Given the description of an element on the screen output the (x, y) to click on. 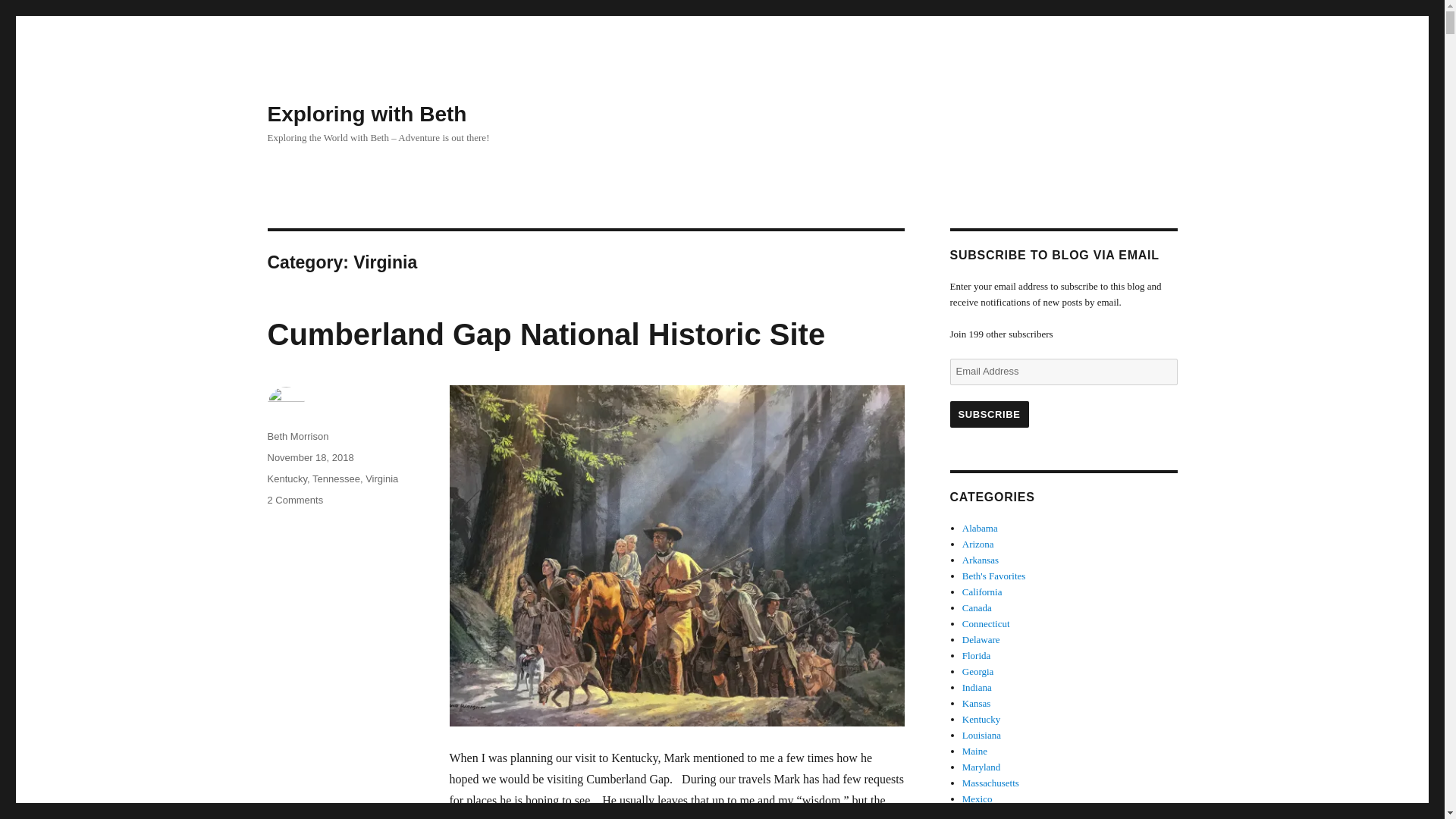
November 18, 2018 (309, 457)
Virginia (381, 478)
Cumberland Gap National Historic Site (545, 334)
Tennessee (294, 500)
Exploring with Beth (336, 478)
Kentucky (365, 114)
Beth Morrison (286, 478)
